Given the description of an element on the screen output the (x, y) to click on. 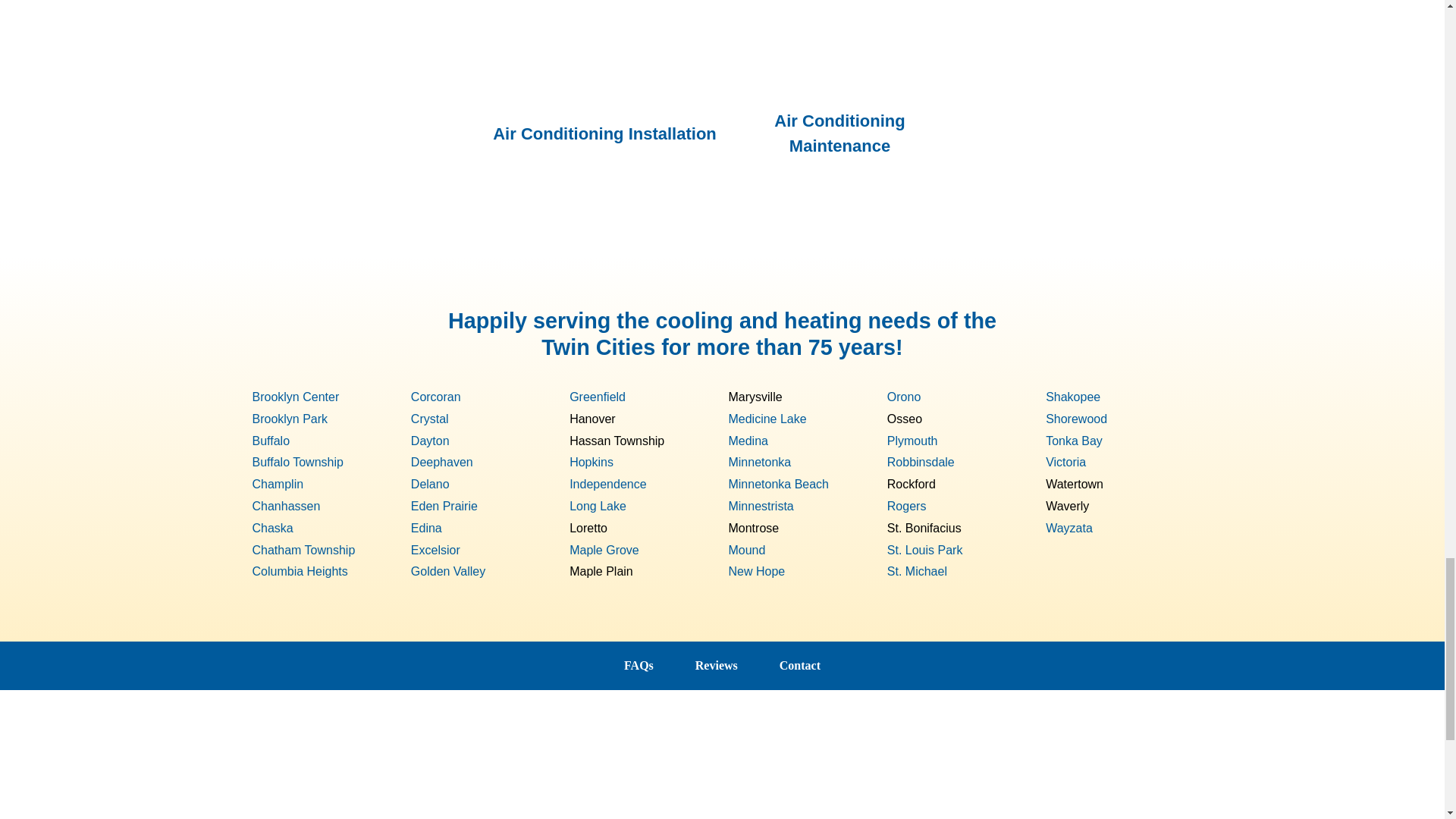
Other Services Icon 3 (604, 53)
Path 5832 (1028, 325)
DitterLogo-3C (722, 750)
Other Services Icon 2 (839, 46)
Path 5832 (416, 325)
